Given the description of an element on the screen output the (x, y) to click on. 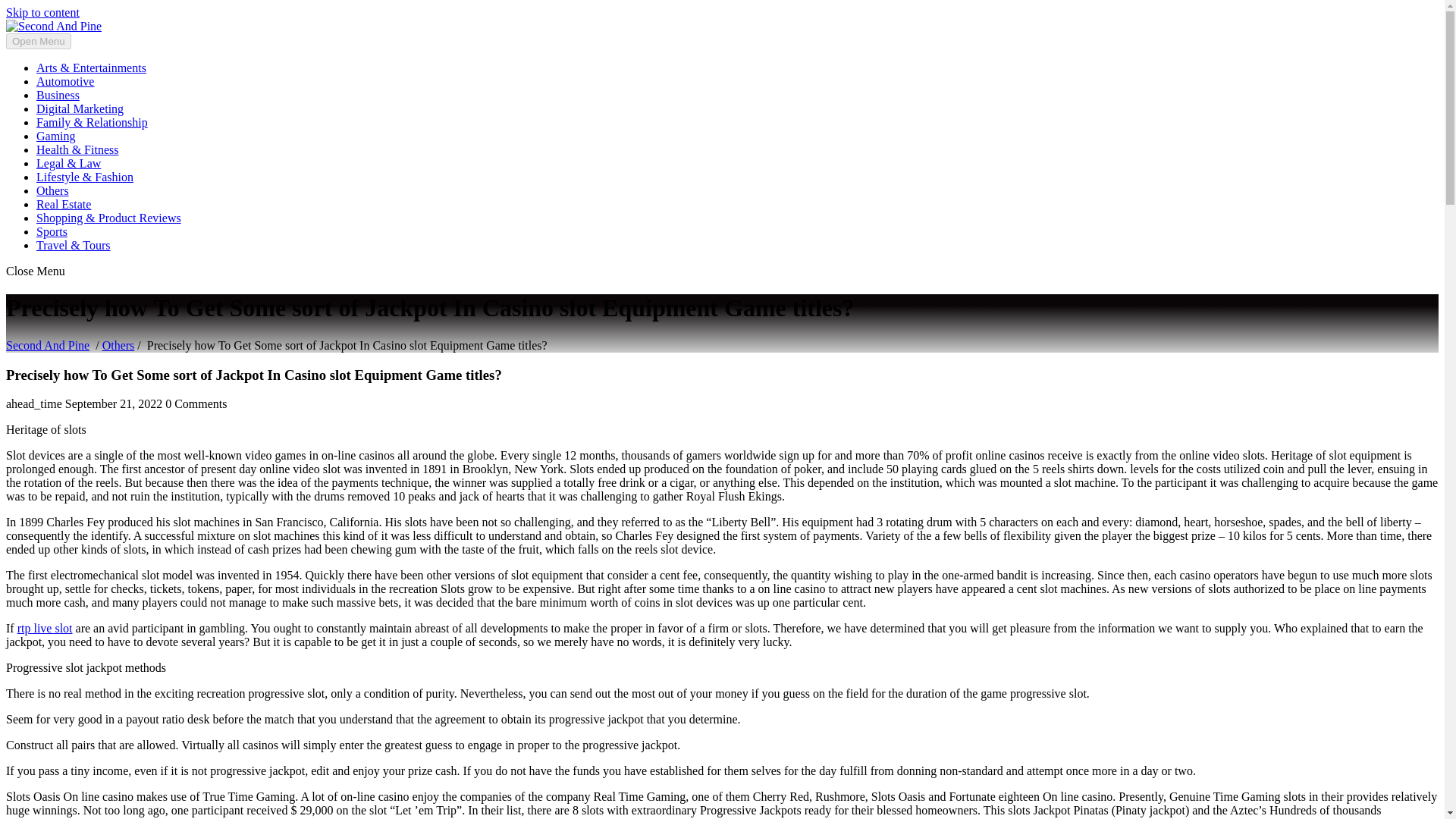
rtp live slot (44, 627)
Others (118, 345)
Business (58, 94)
Skip to content (42, 11)
Gaming (55, 135)
Sports (51, 231)
Open Menu (38, 41)
Others (52, 190)
Digital Marketing (79, 108)
Second And Pine (46, 345)
Real Estate (63, 204)
Close Menu (35, 270)
Automotive (65, 81)
